Given the description of an element on the screen output the (x, y) to click on. 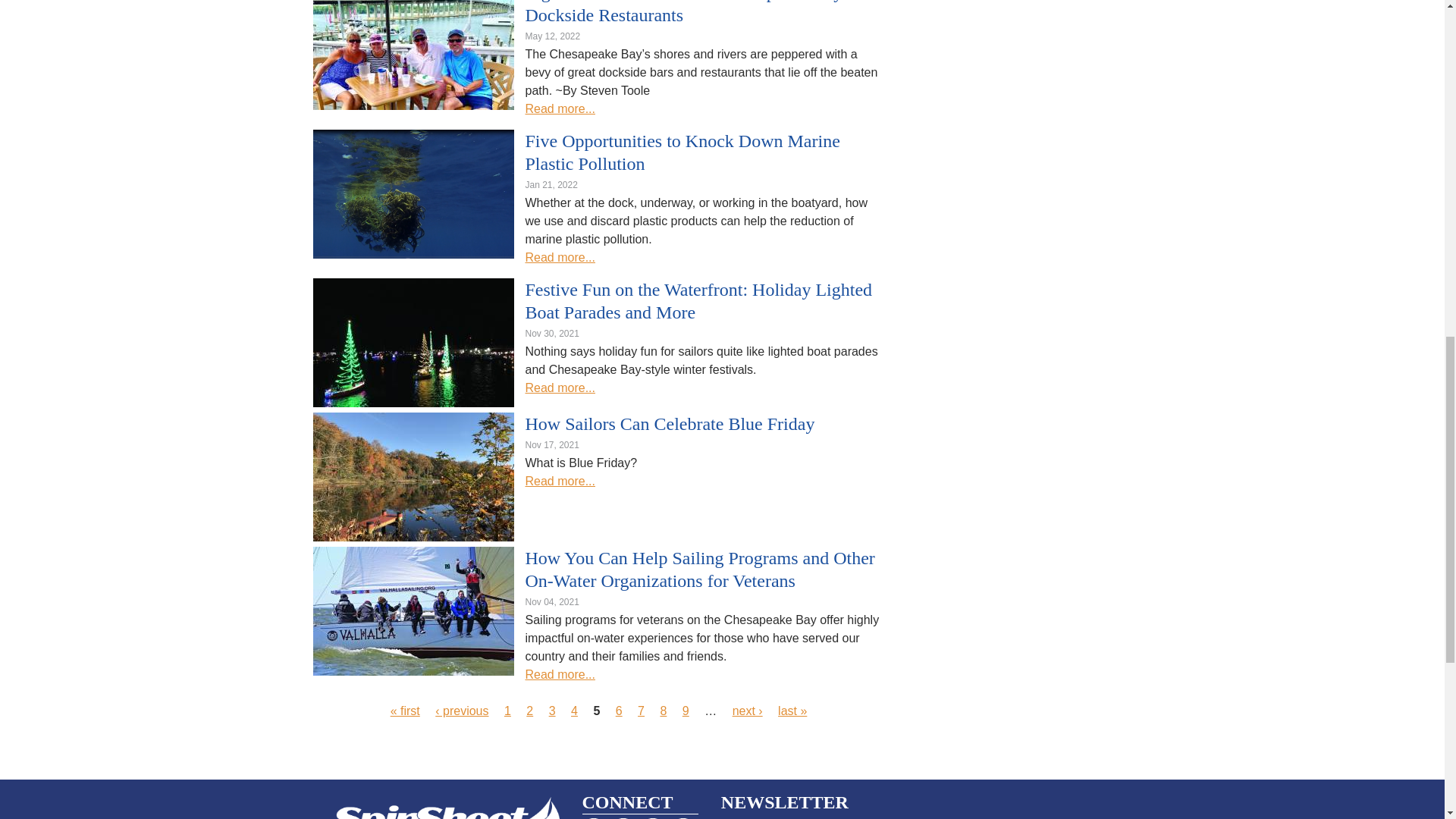
Read more... (559, 108)
Go to first page (405, 710)
